Given the description of an element on the screen output the (x, y) to click on. 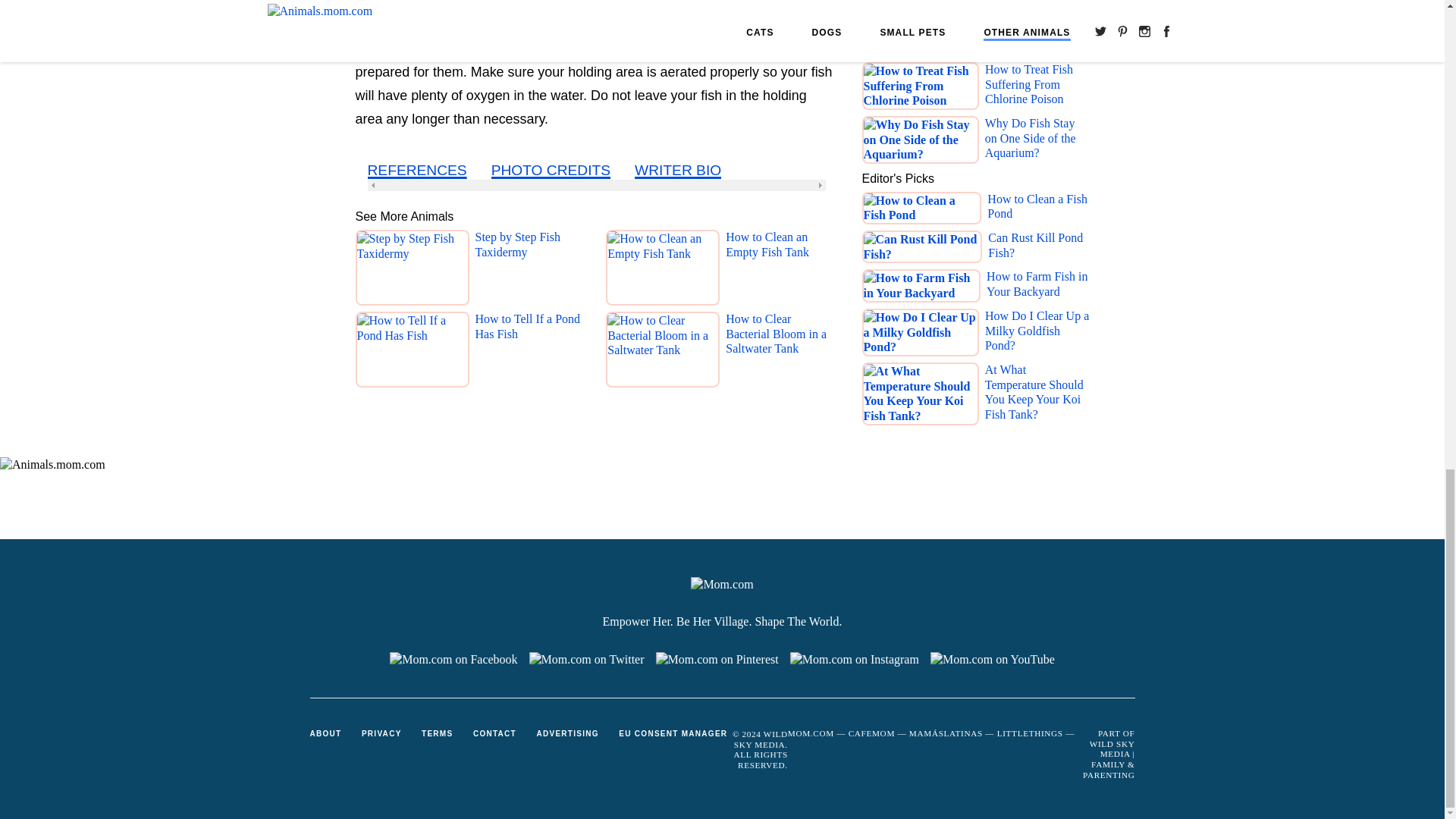
How to Tell If a Pond Has Fish (530, 352)
Step by Step Fish Taxidermy (530, 271)
How to Clear Bacterial Bloom in a Saltwater Tank (781, 352)
How to Clean an Empty Fish Tank (781, 271)
